Given the description of an element on the screen output the (x, y) to click on. 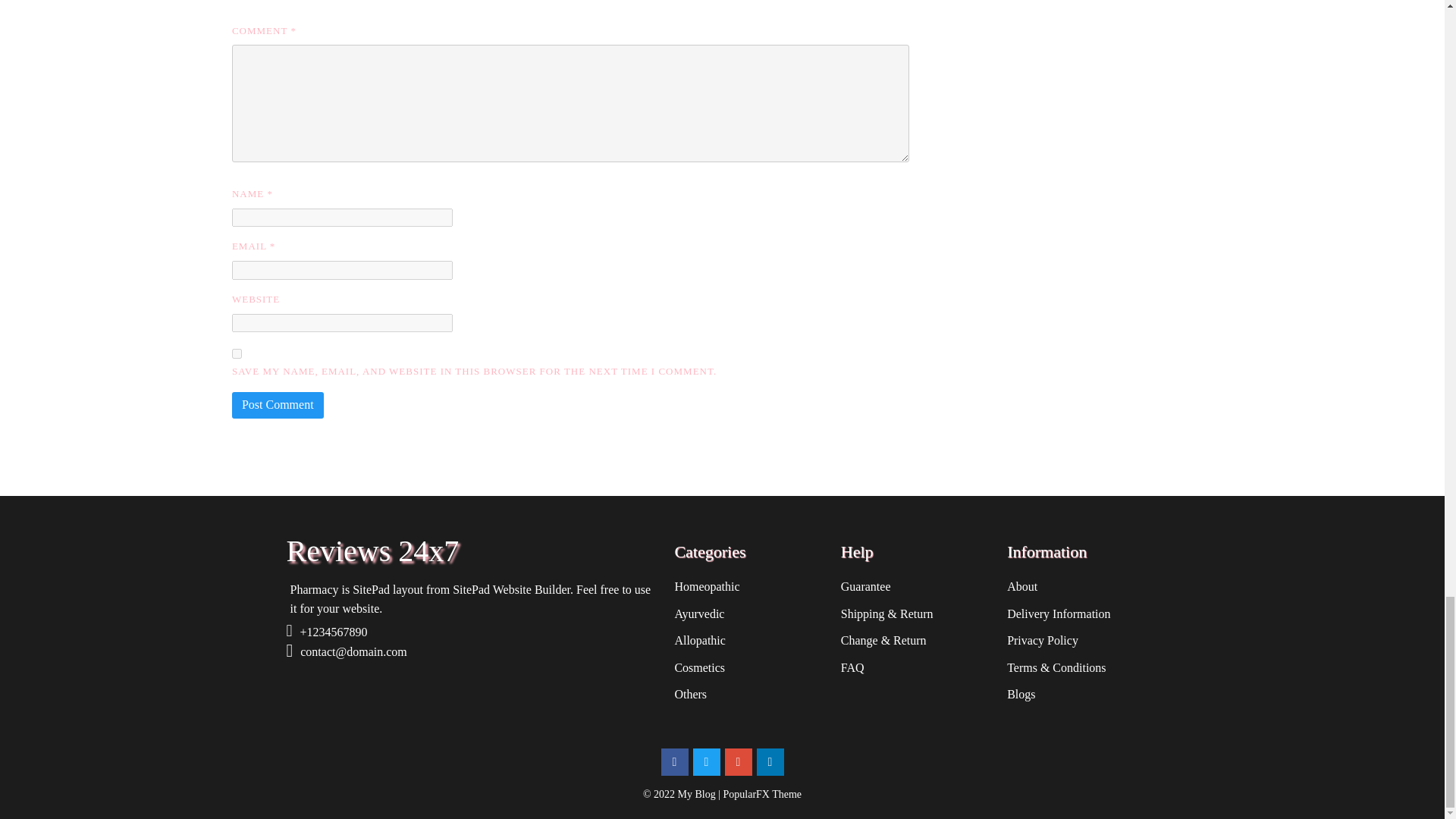
Post Comment (277, 404)
PopularFX Theme (762, 794)
Post Comment (277, 404)
Reviews 24x7 (472, 551)
yes (236, 353)
